Given the description of an element on the screen output the (x, y) to click on. 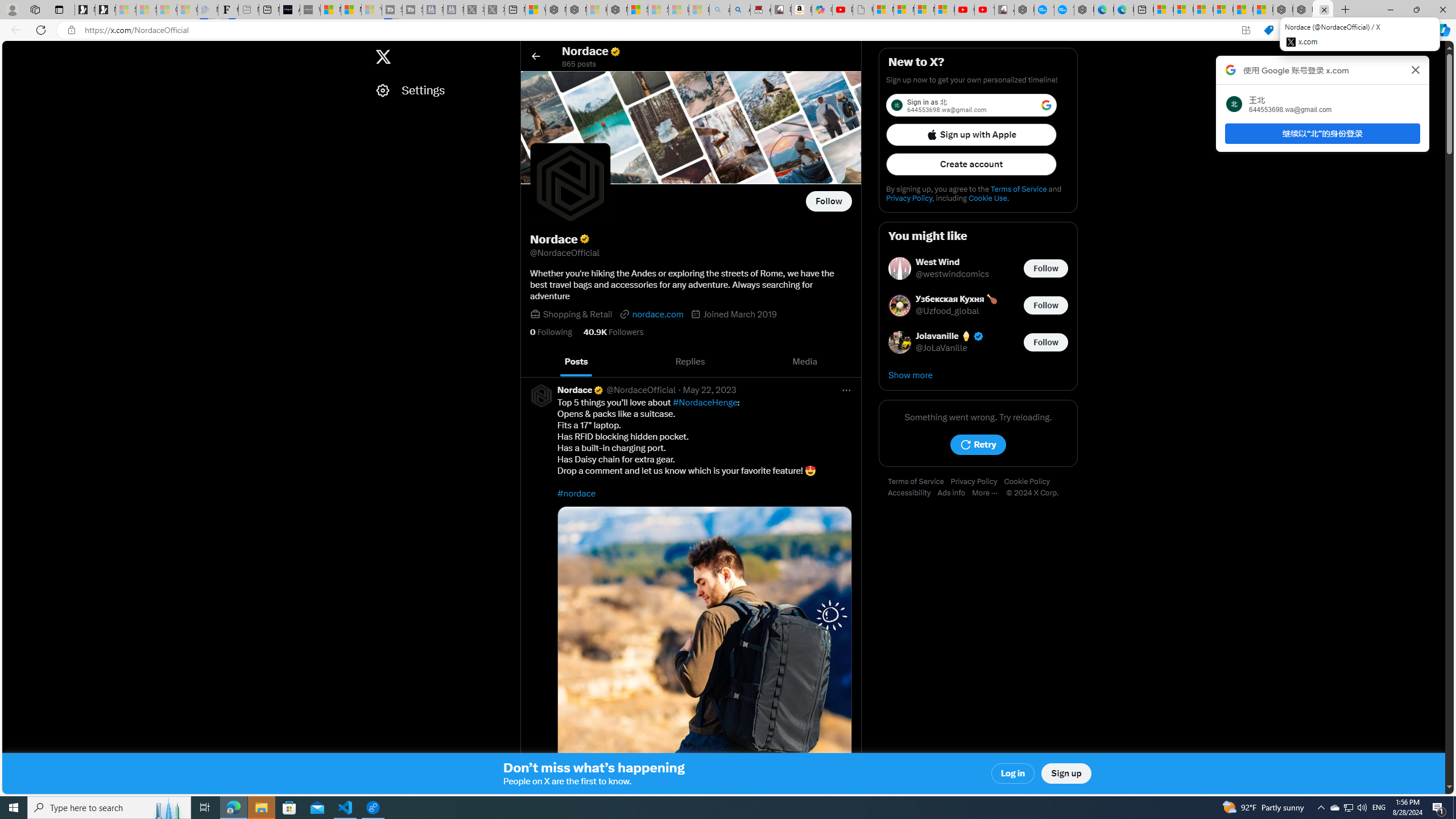
Nordace - Nordace Siena Is Not An Ordinary Backpack (616, 9)
West Wind @westwindcomics Follow @westwindcomics (978, 268)
Amazon Echo Dot PNG - Search Images (740, 9)
New tab - Sleeping (248, 9)
@westwindcomics (952, 274)
Untitled (862, 9)
